Given the description of an element on the screen output the (x, y) to click on. 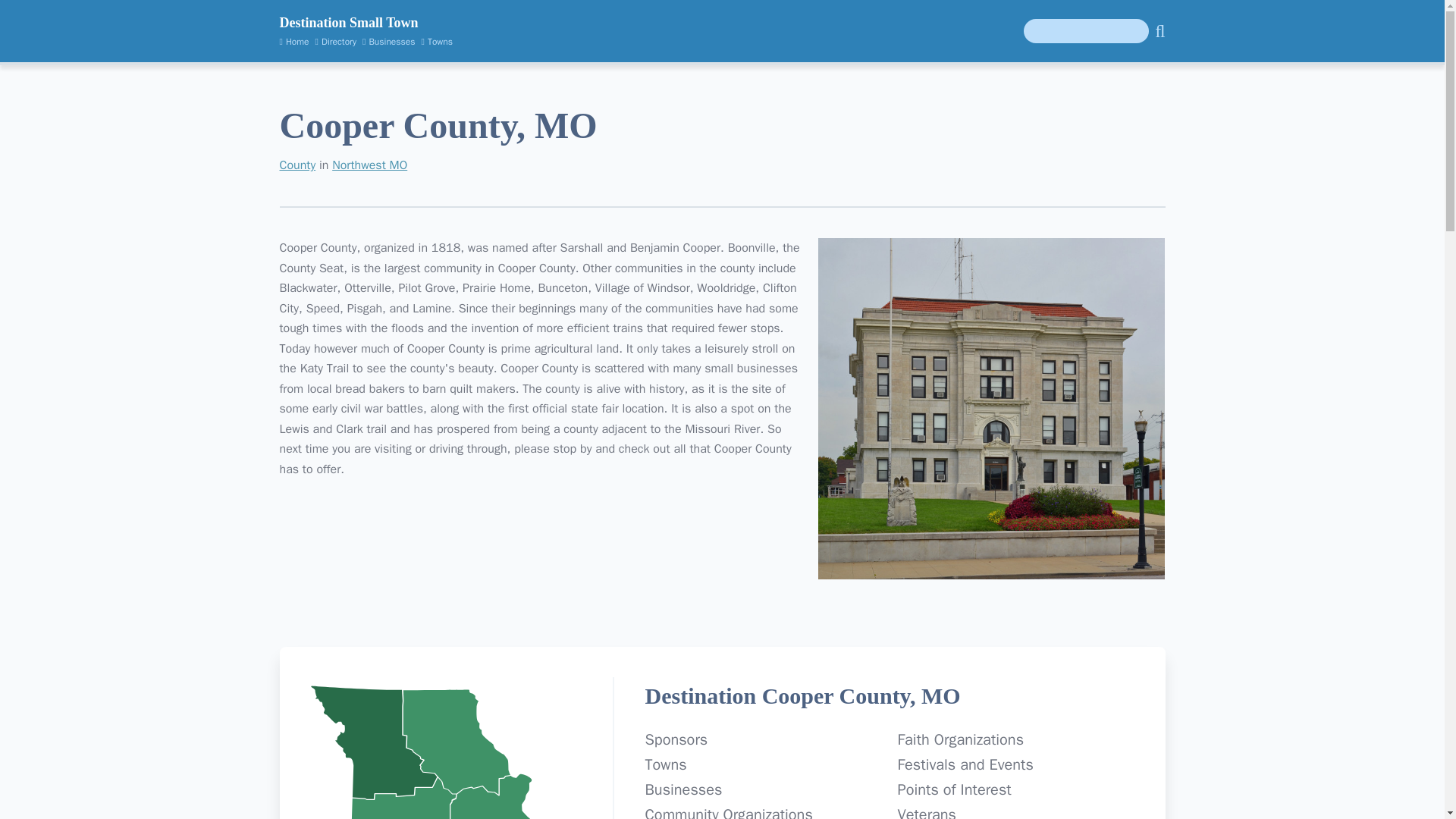
Towns (665, 764)
Towns (437, 41)
Faith Organizations (959, 739)
Points of Interest (953, 789)
County (297, 165)
Sponsors (676, 739)
Festivals and Events (964, 764)
Northwest MO (369, 165)
Veterans (925, 812)
Businesses (388, 41)
